Given the description of an element on the screen output the (x, y) to click on. 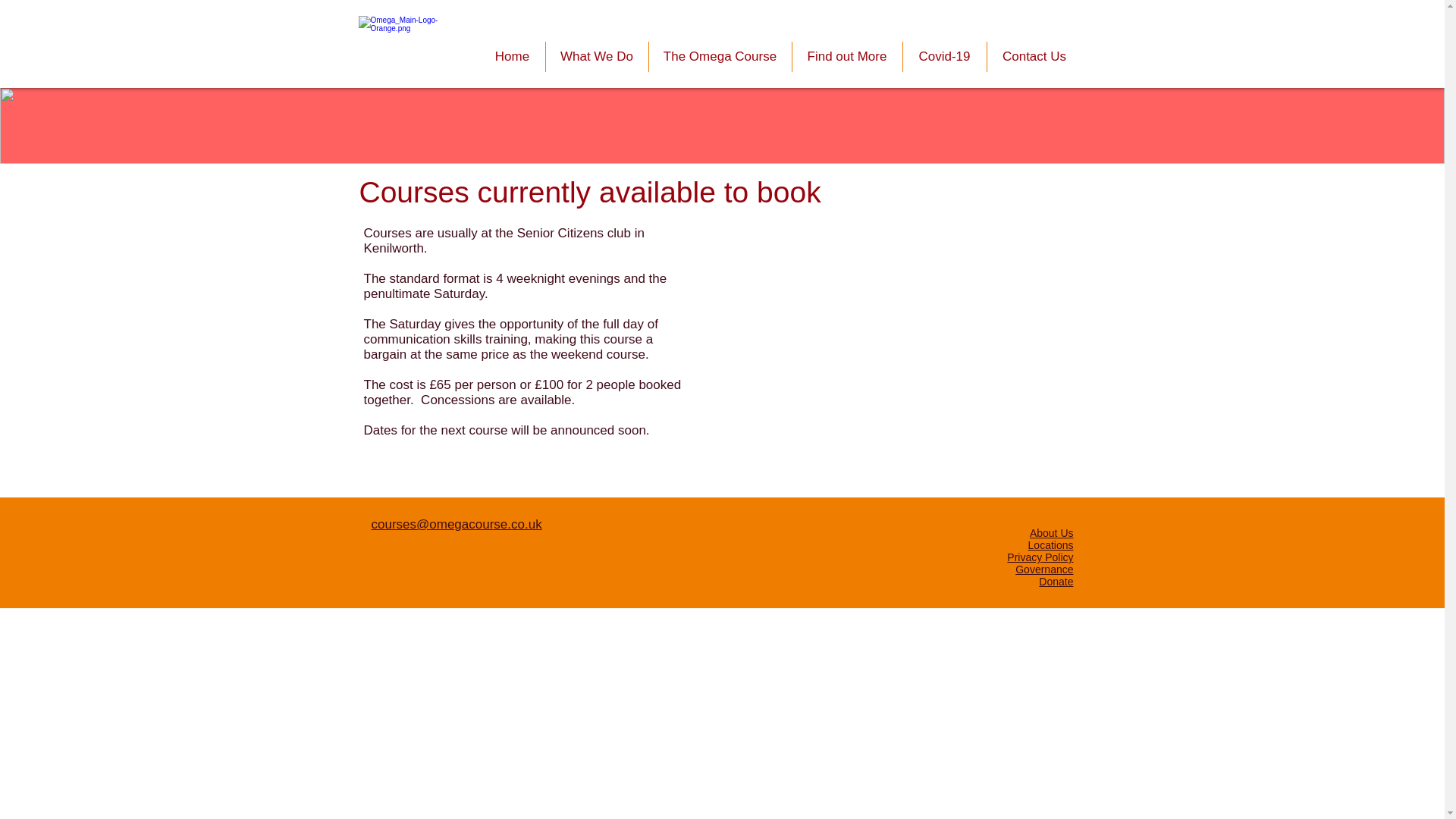
Covid-19 (943, 56)
Home (511, 56)
What We Do (596, 56)
Governance (1043, 569)
About Us (1051, 532)
Locations (1050, 544)
Donate (1056, 581)
Privacy Policy (1040, 557)
